Given the description of an element on the screen output the (x, y) to click on. 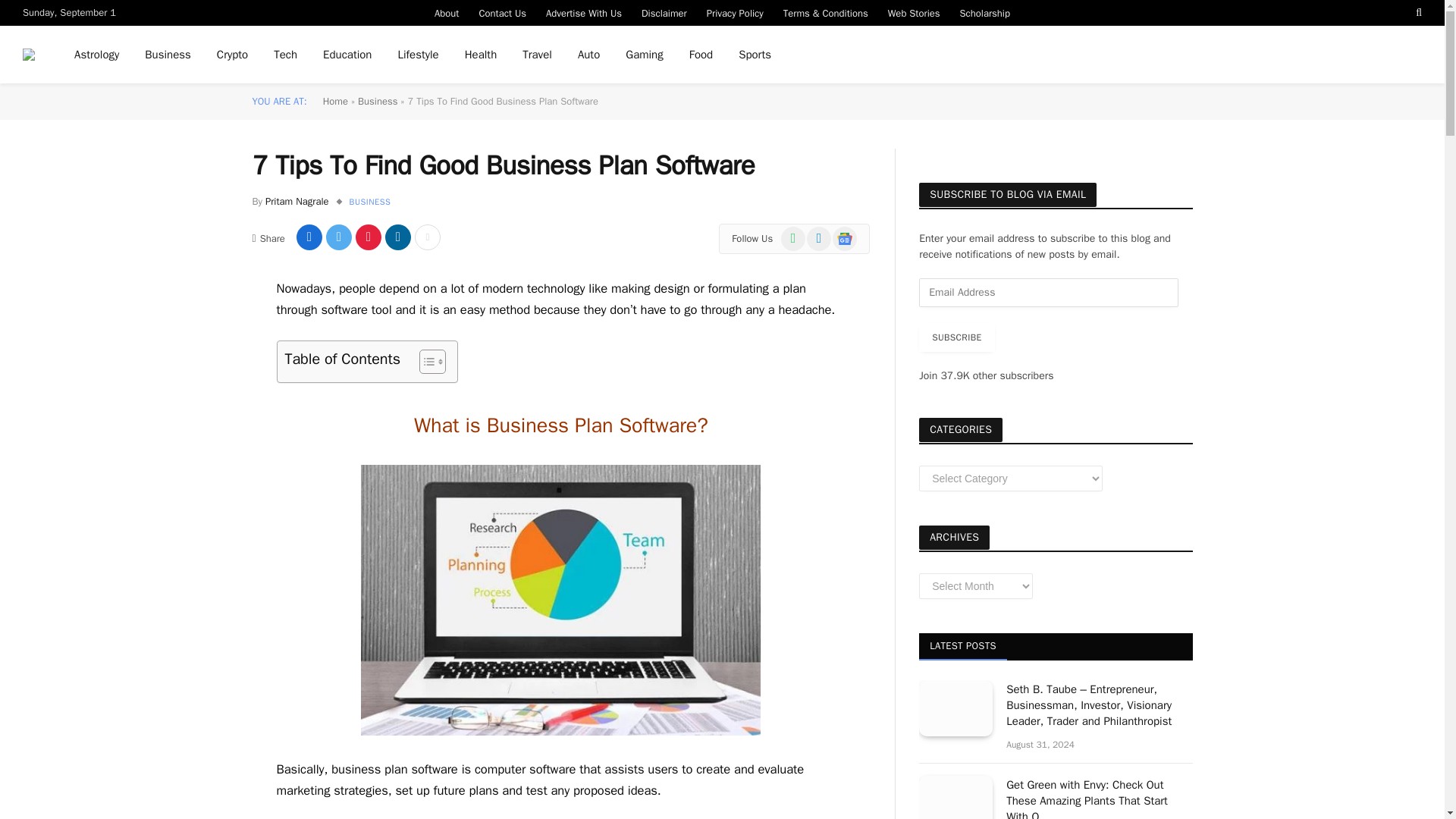
Posts by Pritam Nagrale (296, 201)
Sports (754, 54)
Advertise With Us (583, 12)
Share on Facebook (309, 237)
Scholarship (985, 12)
Astrology (96, 54)
Business (167, 54)
About (446, 12)
Crypto (231, 54)
Web Stories (913, 12)
